Given the description of an element on the screen output the (x, y) to click on. 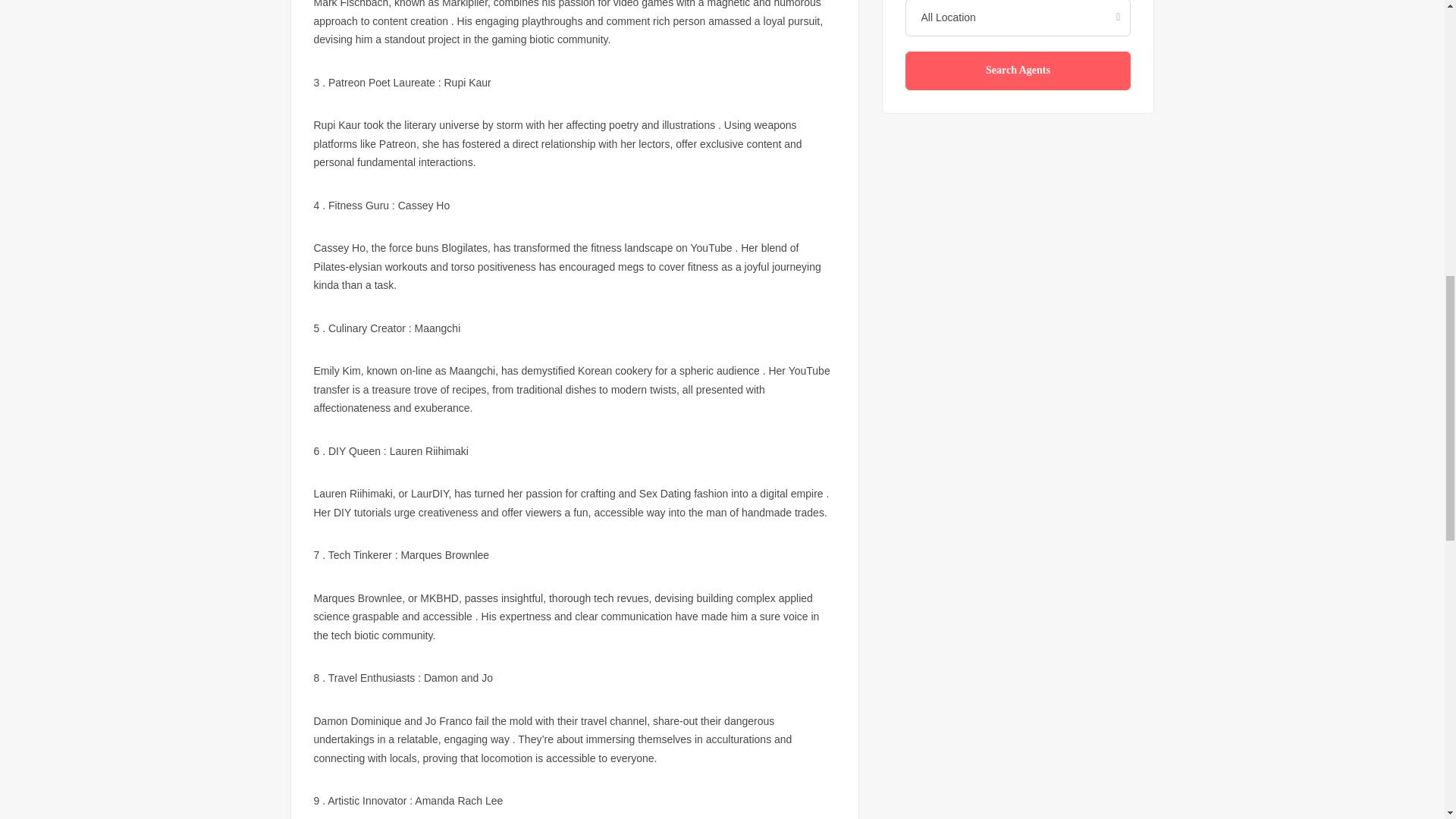
Search Agents (1018, 70)
Sex Dating (664, 493)
